Given the description of an element on the screen output the (x, y) to click on. 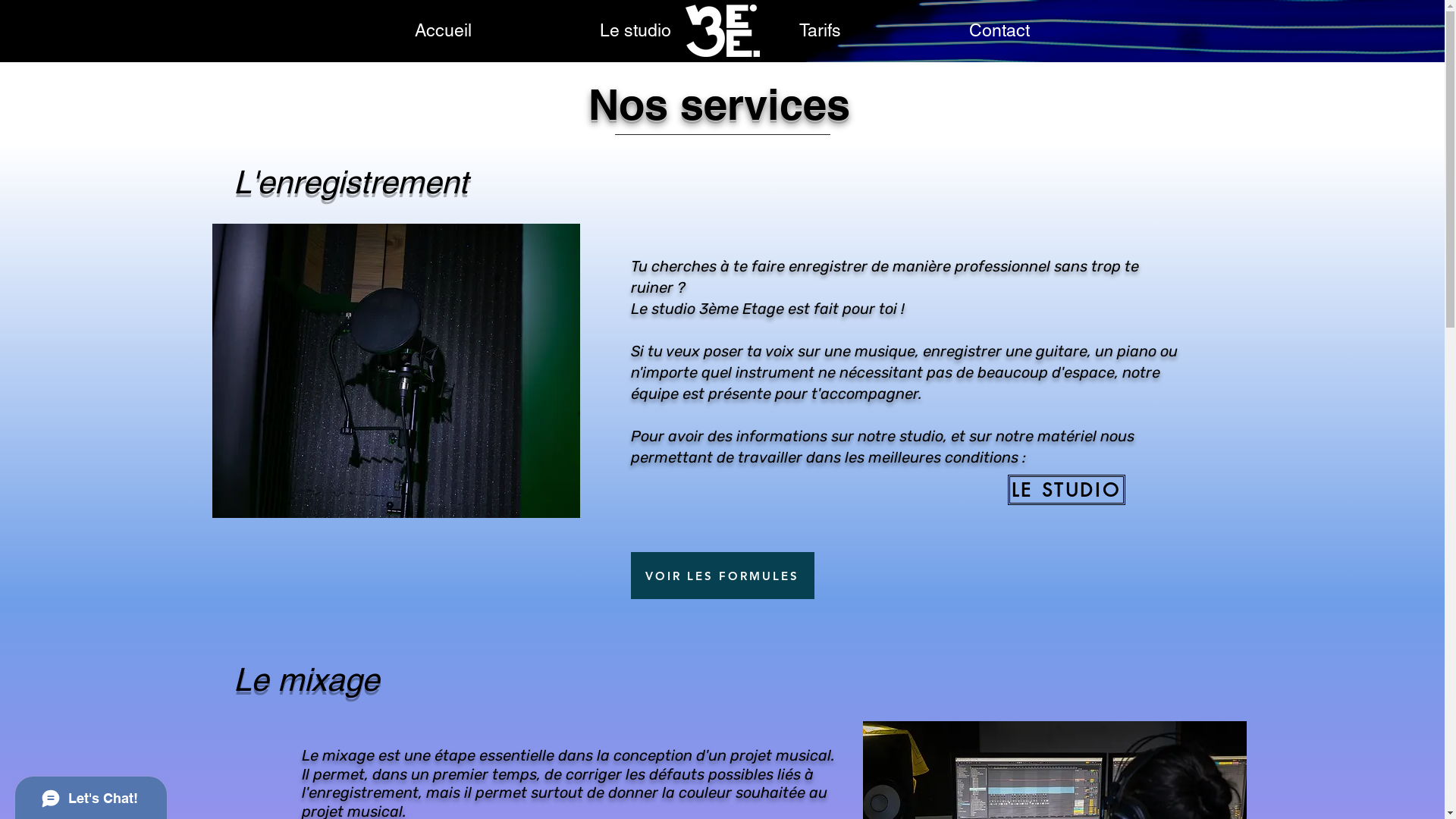
Contact Element type: text (999, 30)
Tarifs Element type: text (820, 30)
Accueil Element type: text (442, 30)
LE STUDIO Element type: text (1065, 489)
VOIR LES FORMULES Element type: text (722, 575)
Le studio Element type: text (634, 30)
